Given the description of an element on the screen output the (x, y) to click on. 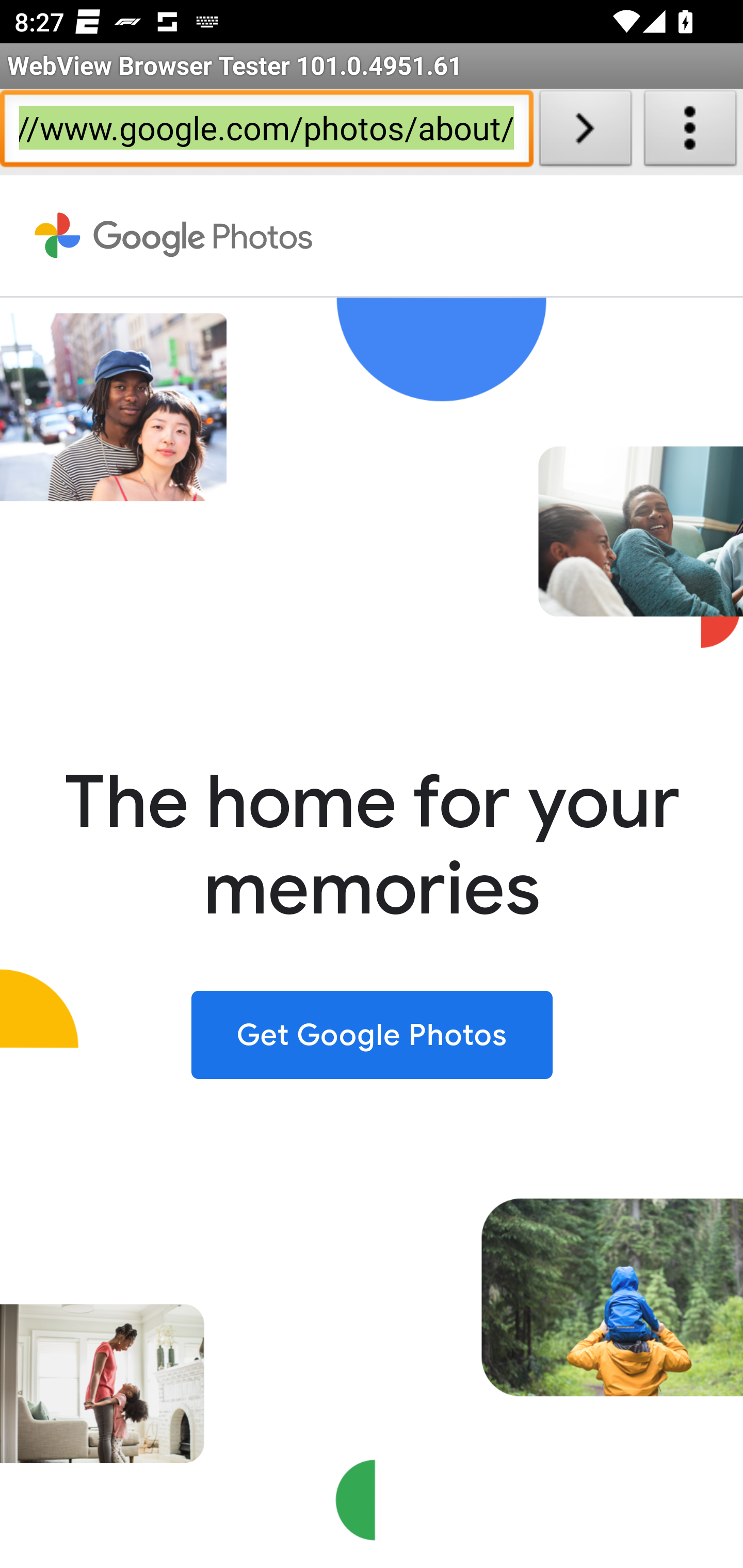
https://www.google.com/photos/about/ (266, 132)
Load URL (585, 132)
About WebView (690, 132)
Google Photos (174, 235)
Get Google Photos (371, 1033)
